Given the description of an element on the screen output the (x, y) to click on. 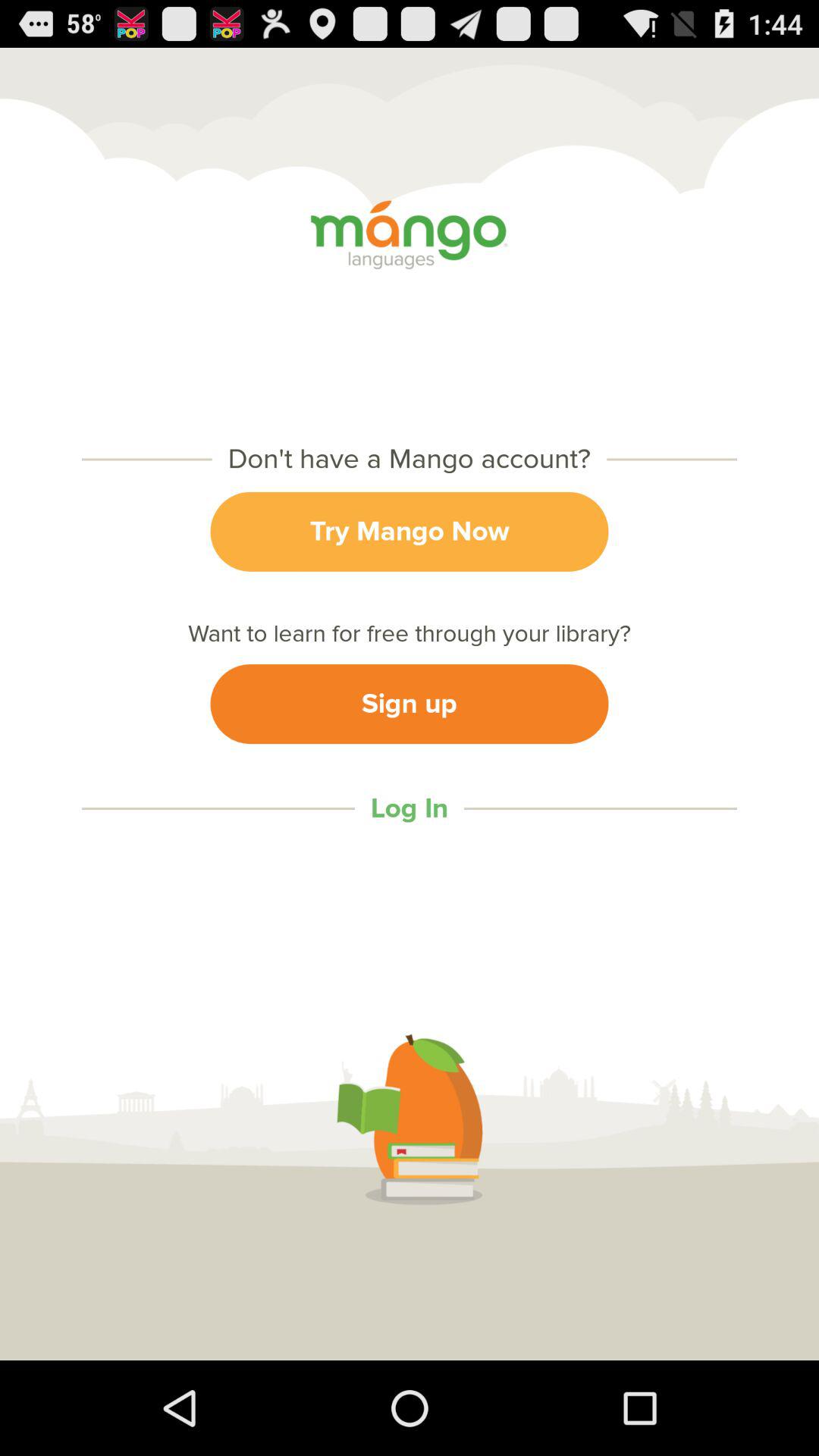
turn off the item above the want to learn item (409, 531)
